Given the description of an element on the screen output the (x, y) to click on. 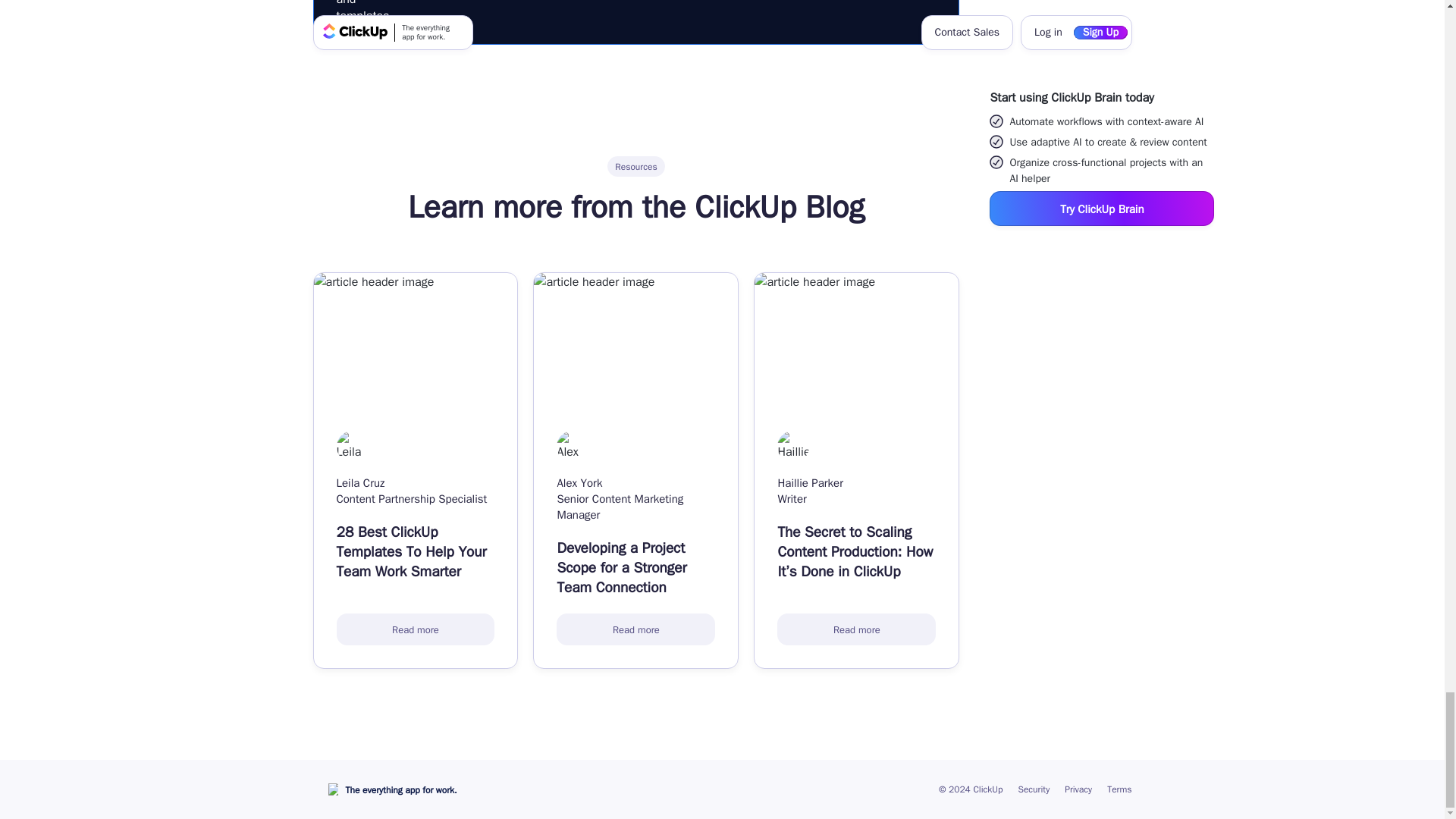
Read more (415, 629)
Read more (635, 629)
Read more (856, 629)
